Given the description of an element on the screen output the (x, y) to click on. 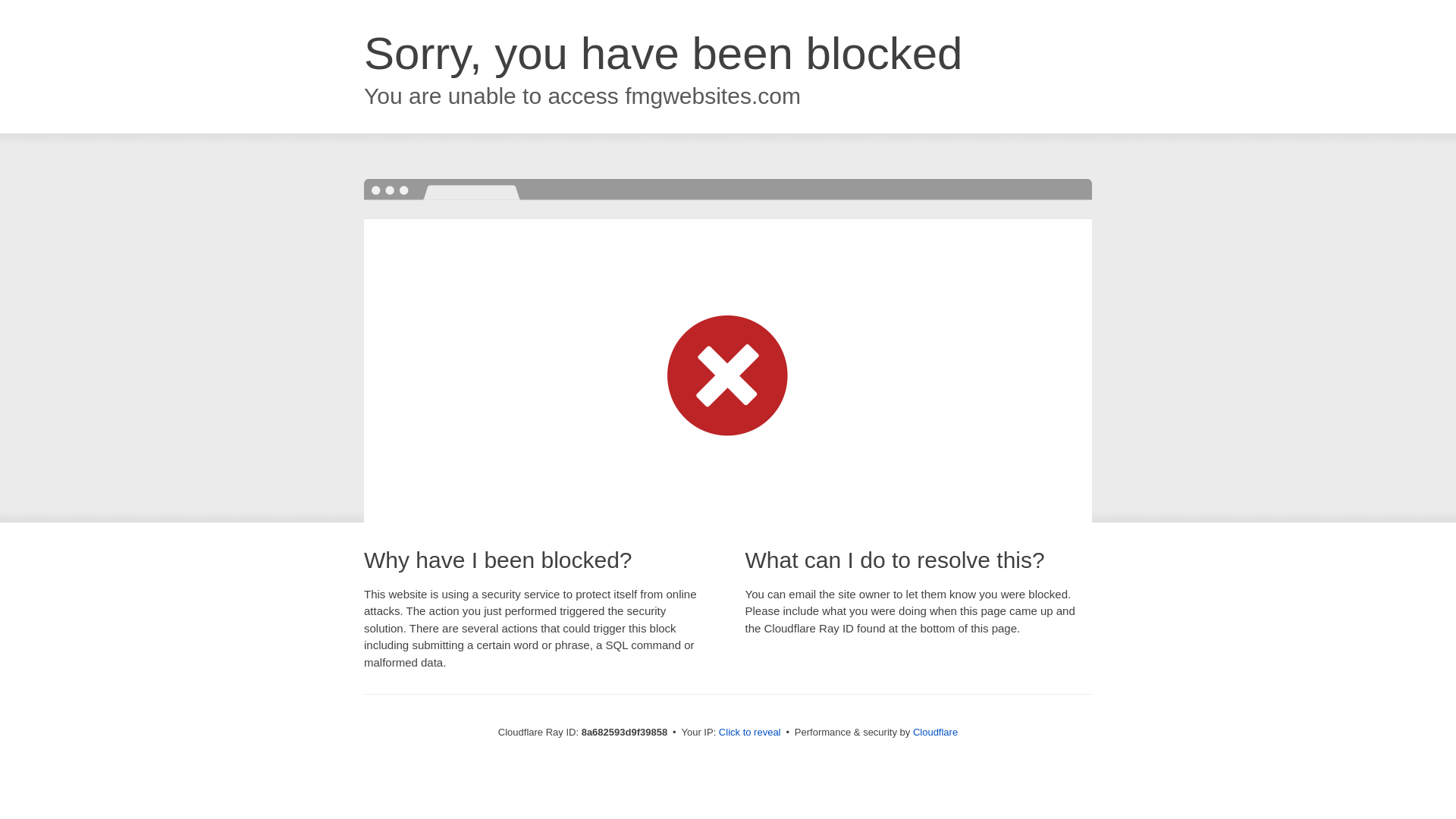
Click to reveal (749, 732)
Cloudflare (935, 731)
